Given the description of an element on the screen output the (x, y) to click on. 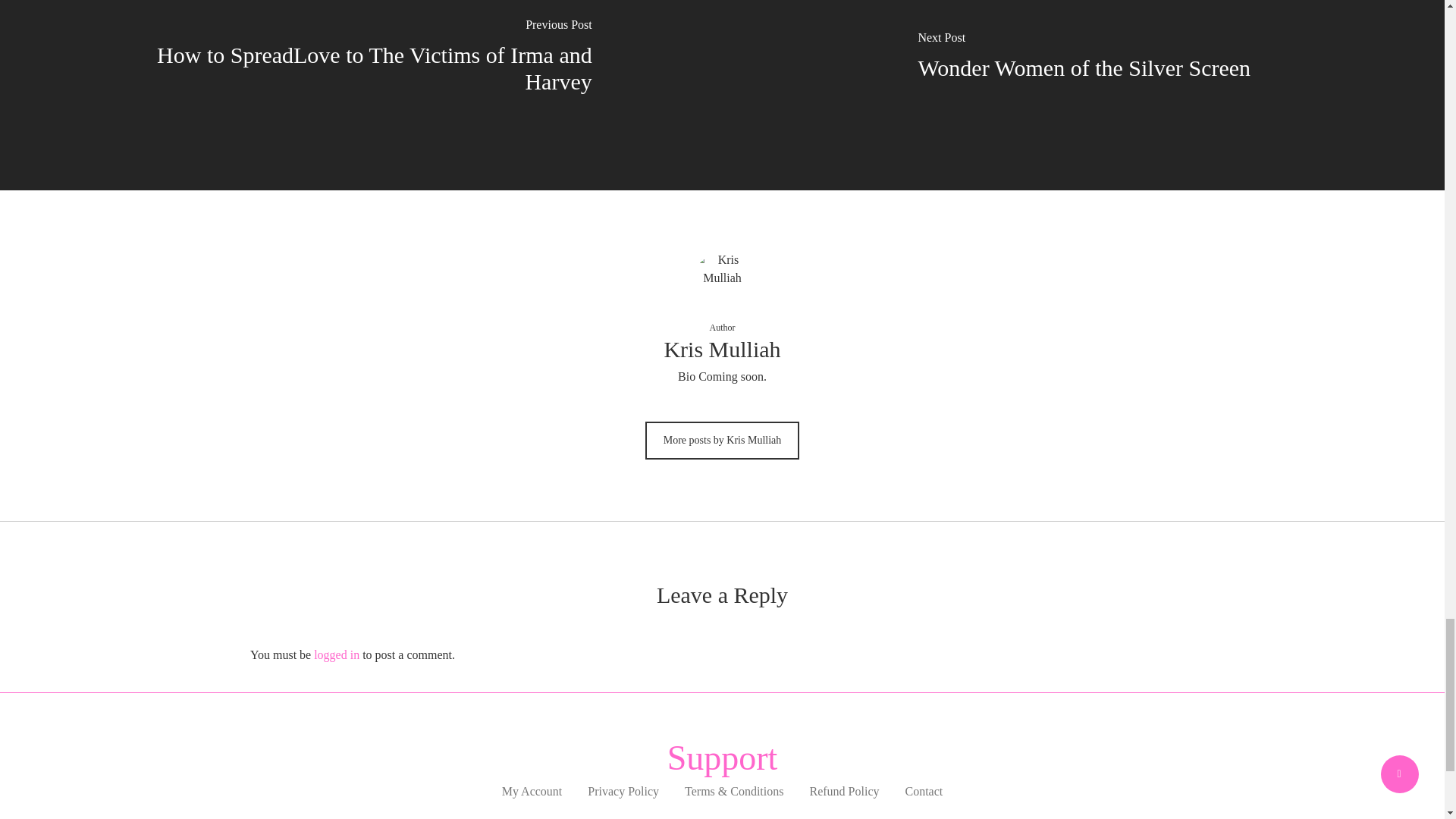
logged in (336, 654)
More posts by Kris Mulliah (722, 440)
